Given the description of an element on the screen output the (x, y) to click on. 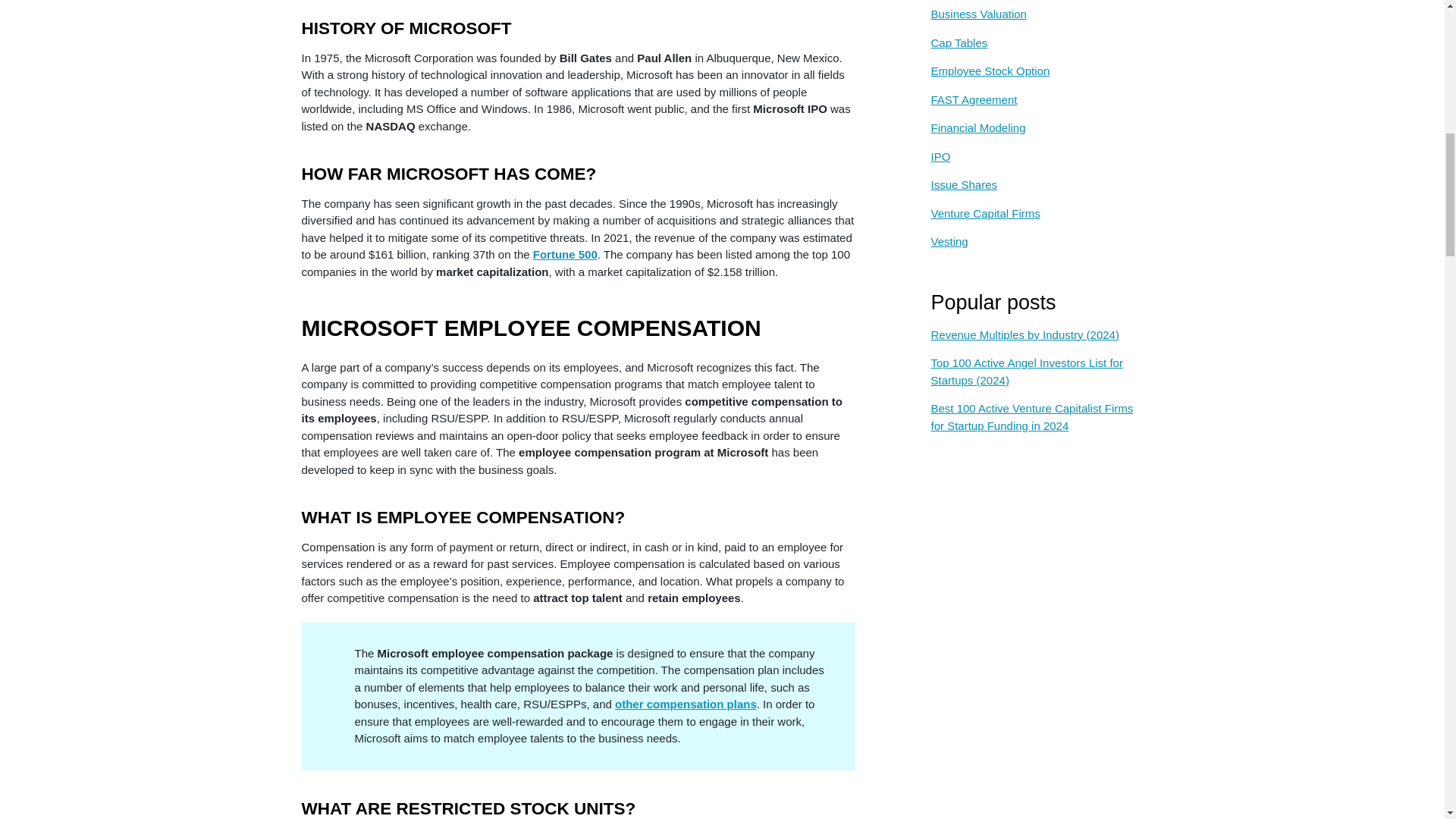
Vesting (1036, 247)
Angel Investors (1036, 3)
Fortune 500 (564, 254)
Cap Tables (1036, 49)
Business Valuation (1036, 20)
Employee Stock Option (1036, 77)
FAST Agreement (1036, 105)
Venture Capital Firms (1036, 219)
other compensation plans (685, 703)
Issue Shares (1036, 190)
